Given the description of an element on the screen output the (x, y) to click on. 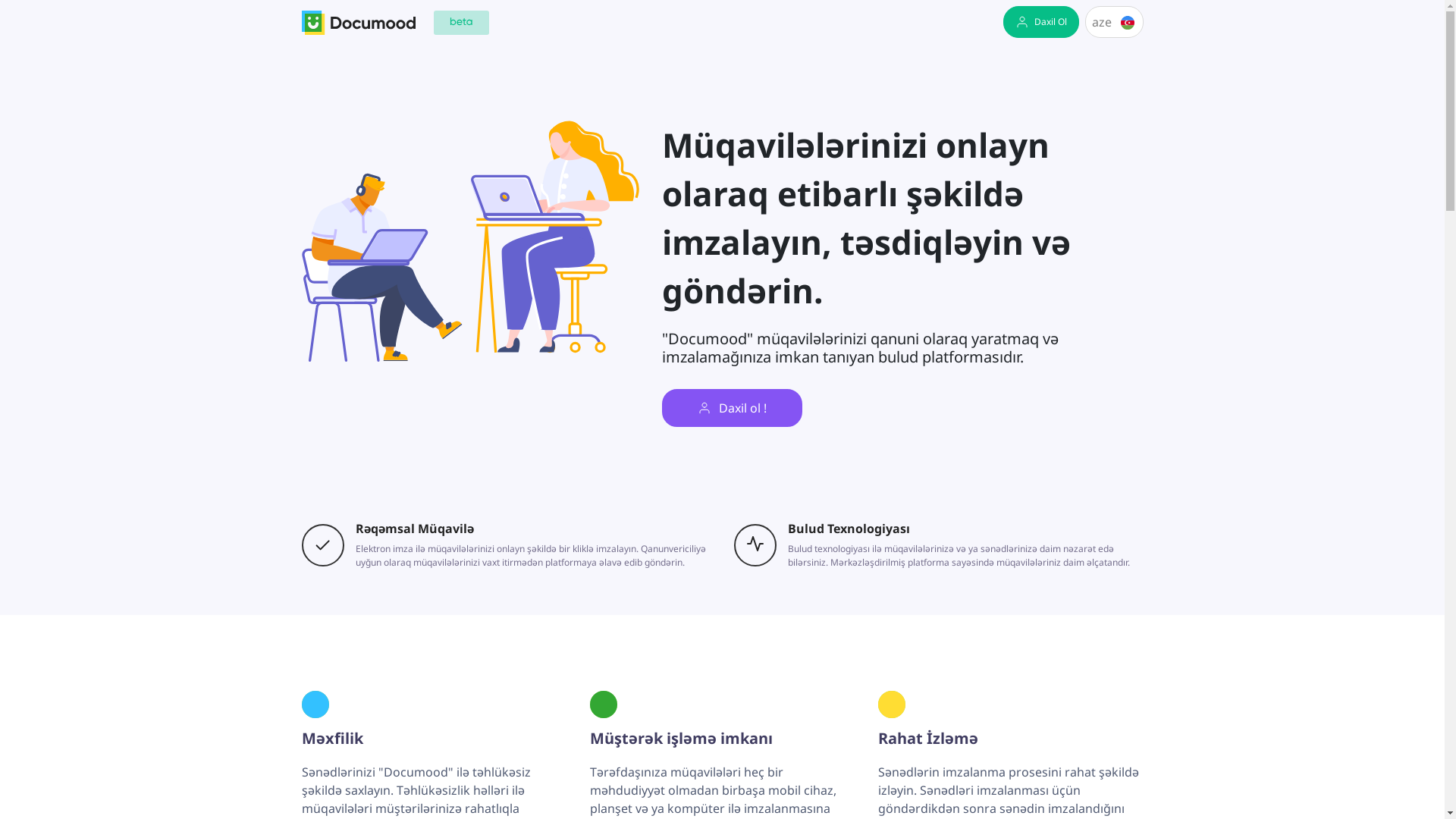
aze Element type: text (1114, 21)
Daxil ol ! Element type: text (731, 407)
Daxil Ol Element type: text (1041, 21)
